Given the description of an element on the screen output the (x, y) to click on. 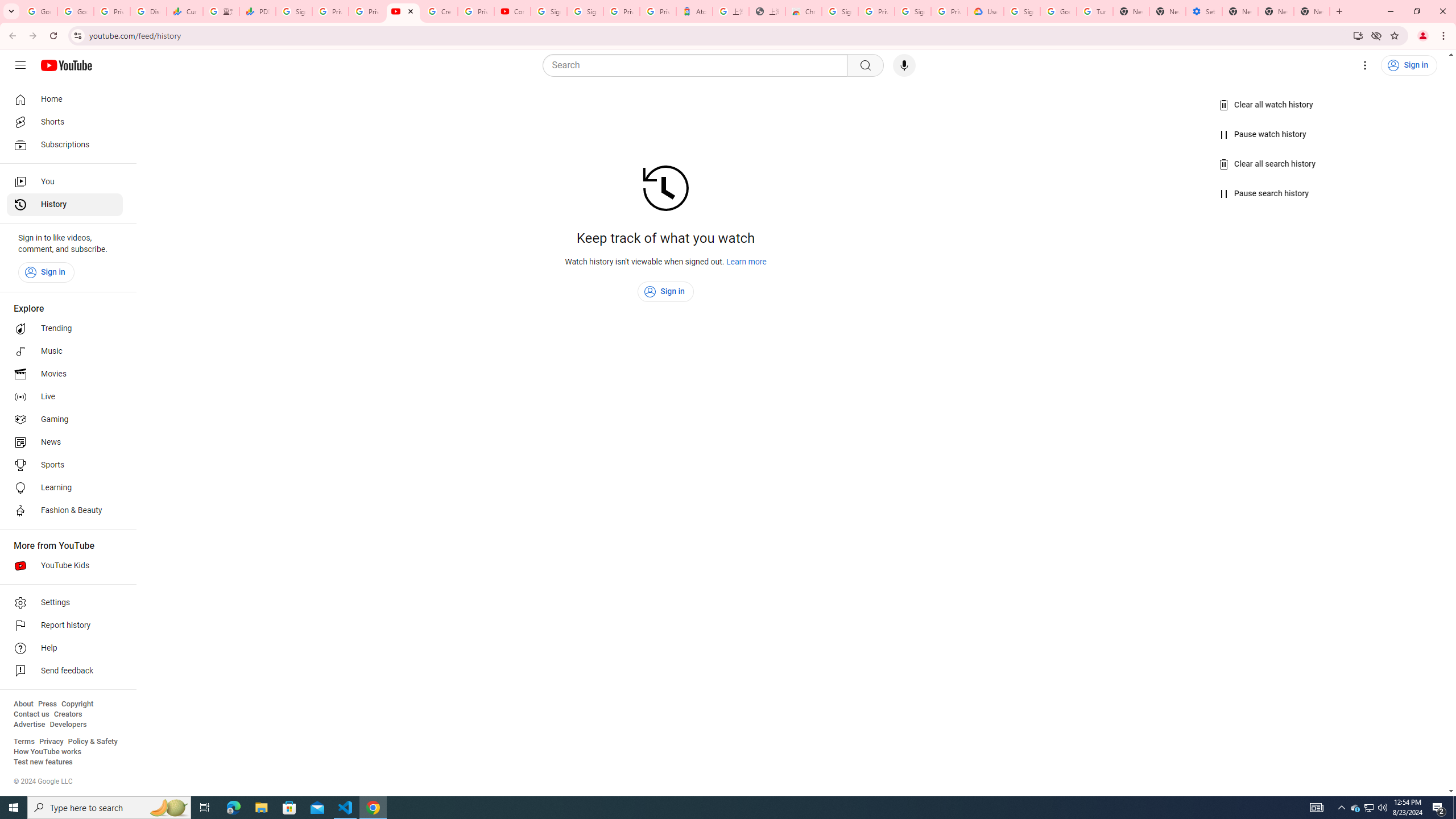
YouTube Home (66, 65)
Copyright (77, 703)
Content Creator Programs & Opportunities - YouTube Creators (512, 11)
Pause search history (1264, 193)
Sign in - Google Accounts (1021, 11)
Contact us (31, 714)
Google Account Help (1058, 11)
Sports (64, 464)
Clear all watch history (1266, 105)
Creators (67, 714)
Press (46, 703)
